Given the description of an element on the screen output the (x, y) to click on. 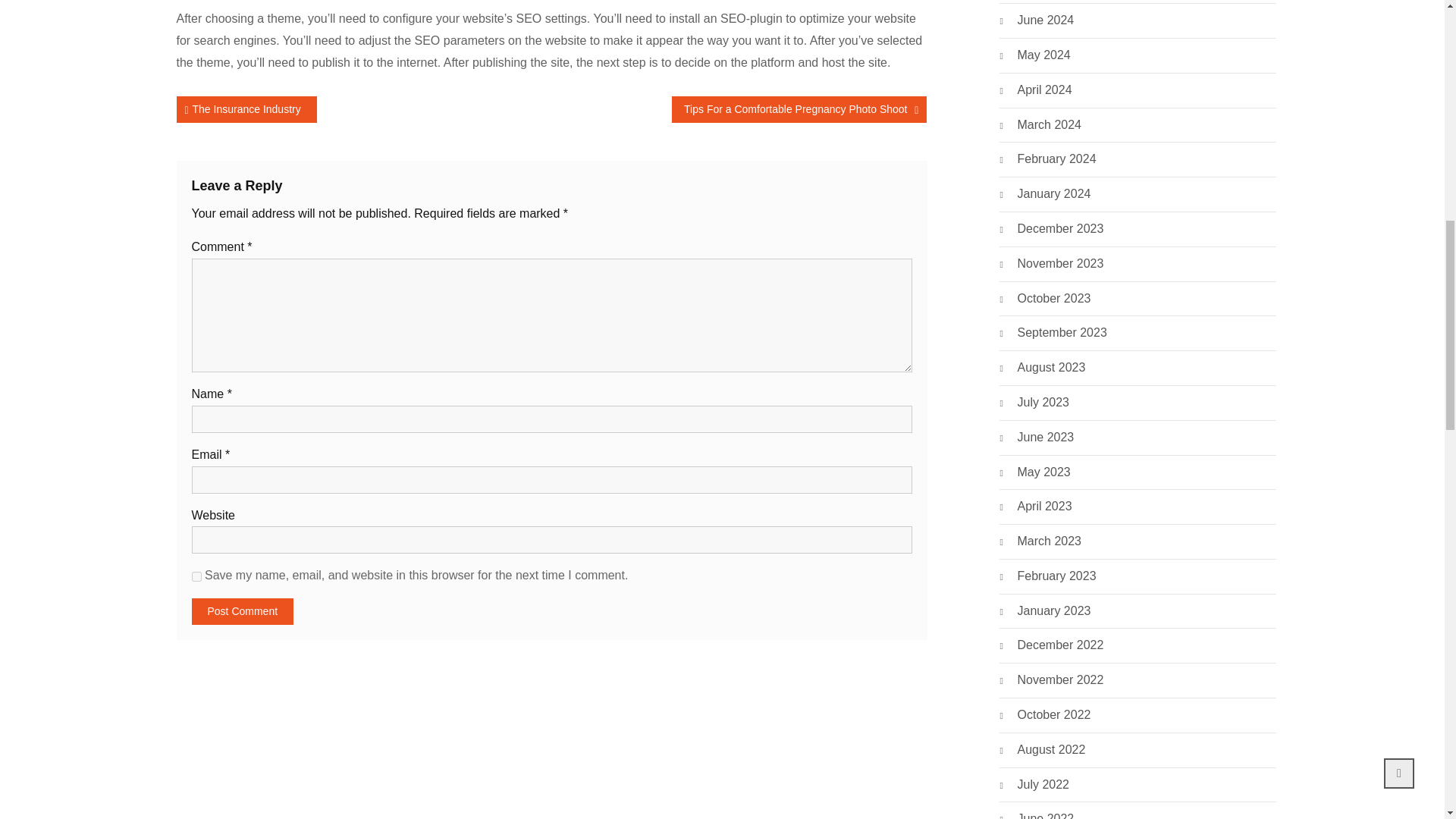
Tips For a Comfortable Pregnancy Photo Shoot (798, 109)
yes (195, 576)
December 2023 (1060, 229)
January 2024 (1053, 194)
October 2023 (1053, 298)
June 2023 (1045, 437)
April 2024 (1044, 90)
March 2024 (1049, 125)
Post Comment (242, 611)
August 2023 (1051, 367)
February 2024 (1056, 158)
September 2023 (1061, 332)
June 2024 (1045, 20)
November 2023 (1060, 263)
May 2024 (1043, 54)
